Given the description of an element on the screen output the (x, y) to click on. 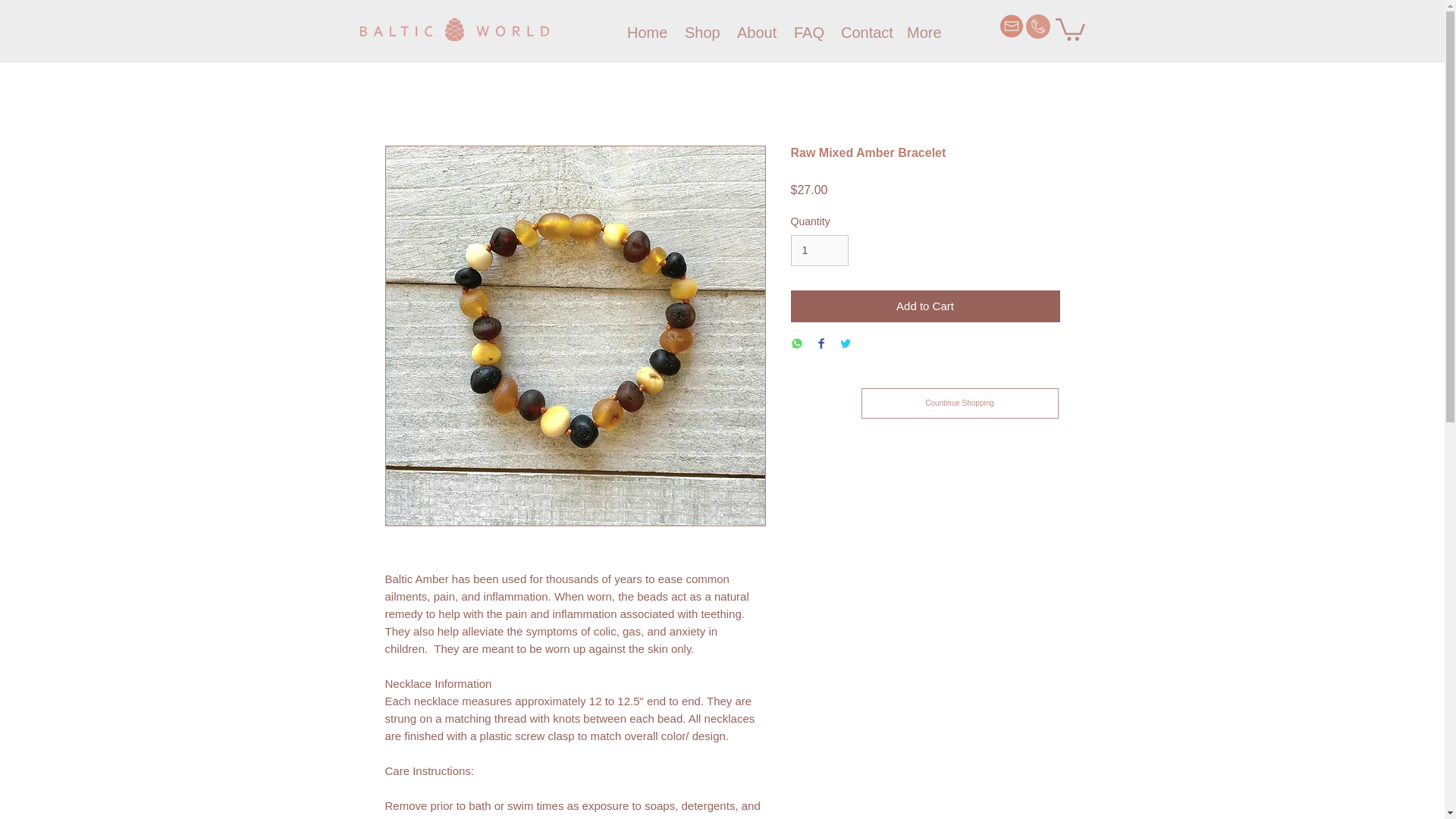
Home (643, 32)
1 (818, 250)
Contact (862, 32)
Shop (698, 32)
About (754, 32)
FAQ (806, 32)
Countinue Shopping (959, 403)
Add to Cart (924, 306)
